Given the description of an element on the screen output the (x, y) to click on. 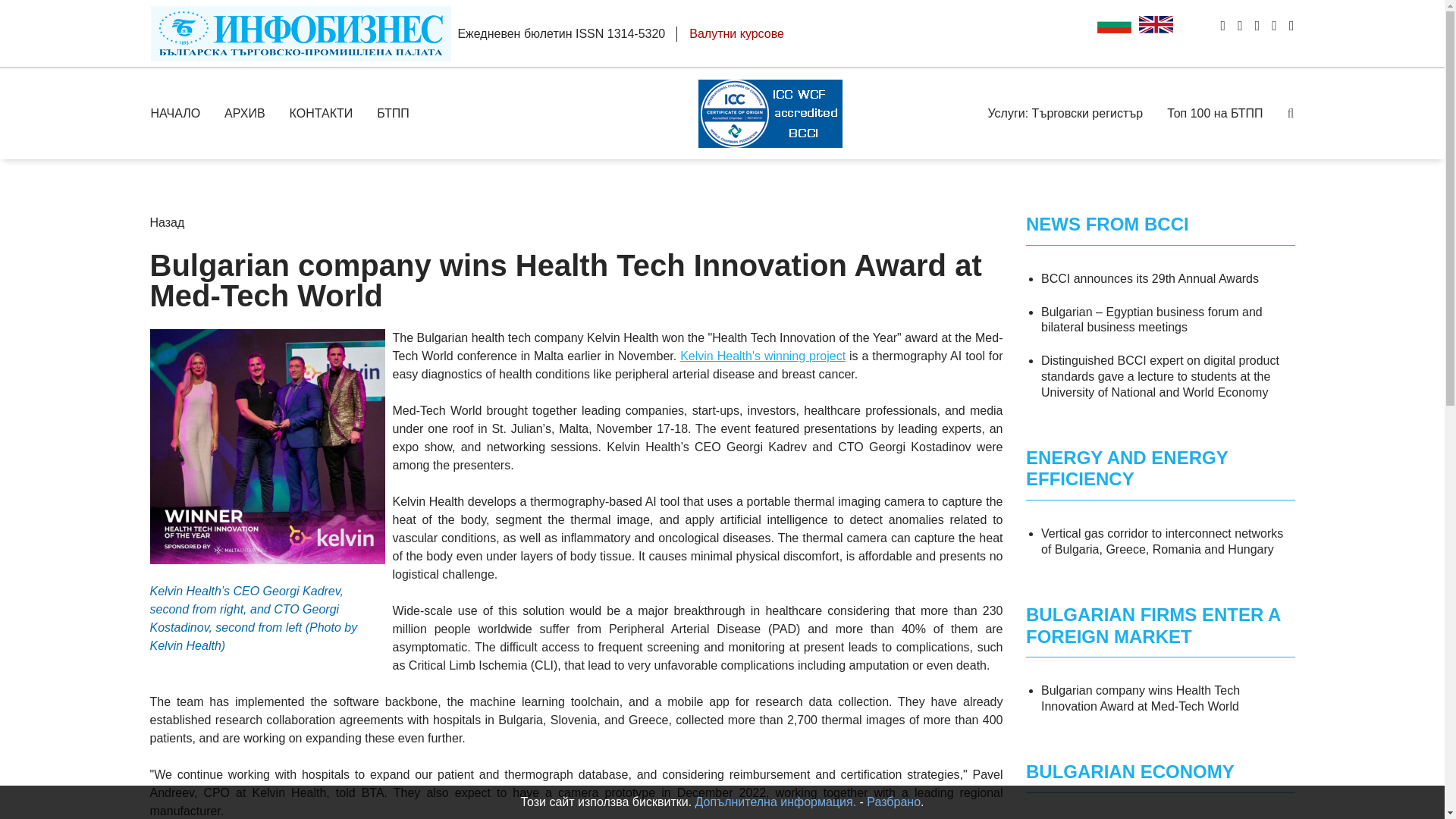
BCCI announces its 29th Annual Awards (1149, 278)
Kelvin Health's winning project (762, 355)
